Given the description of an element on the screen output the (x, y) to click on. 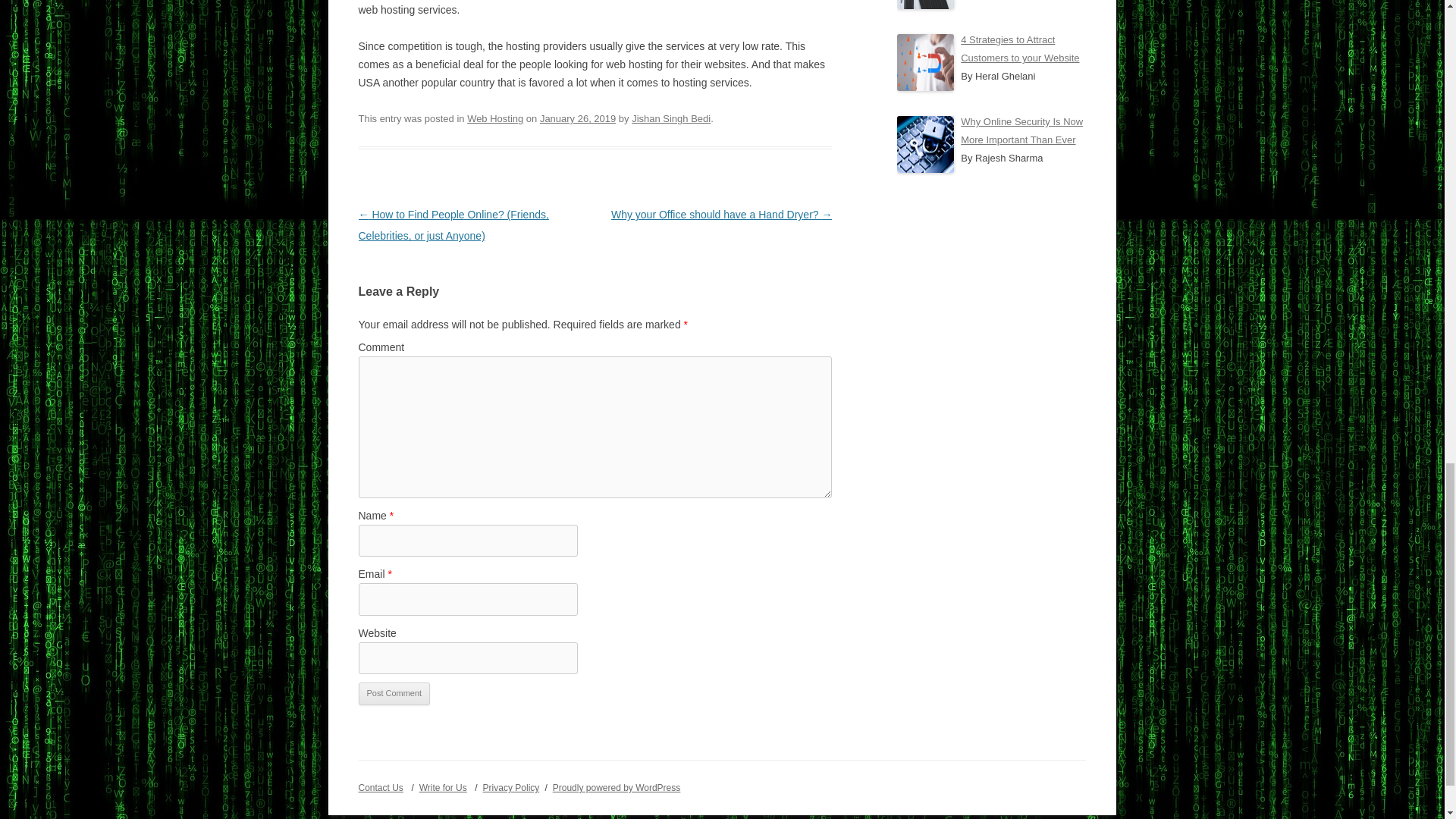
Why Online Security Is Now More Important Than Ever (1021, 130)
3:15 pm (577, 118)
Privacy Policy (511, 787)
Jishan Singh Bedi (670, 118)
Contact Us (380, 787)
Proudly powered by WordPress (617, 787)
January 26, 2019 (577, 118)
Web Hosting (494, 118)
4 Strategies to Attract Customers to your Website (1019, 48)
View all posts by Jishan Singh Bedi (670, 118)
Write for Us (443, 787)
Post Comment (393, 693)
Post Comment (393, 693)
Semantic Personal Publishing Platform (617, 787)
